Given the description of an element on the screen output the (x, y) to click on. 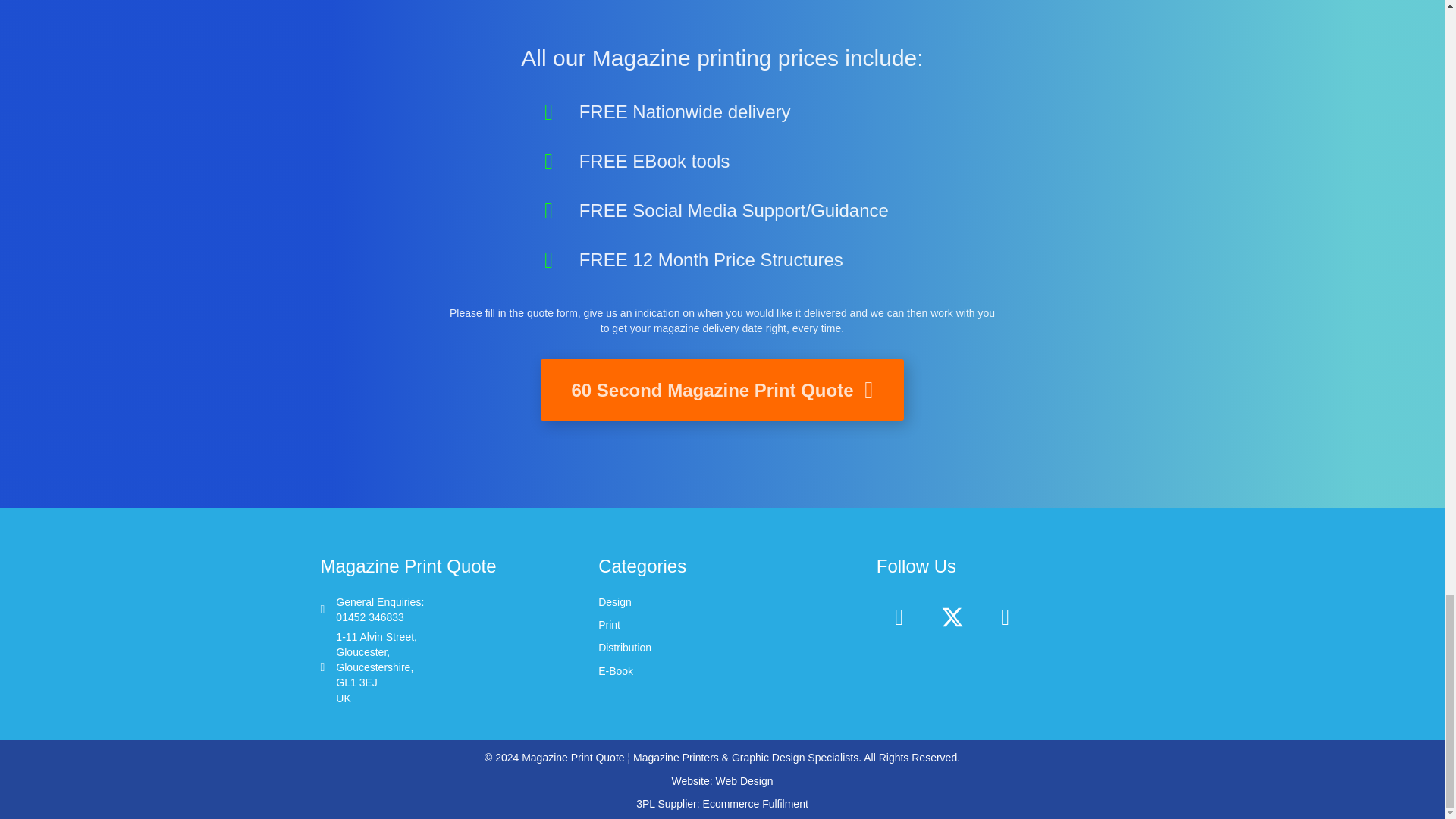
web design (744, 780)
60 Second Magazine Print Quote (721, 389)
Distribution (624, 647)
Ecommerce Fulfilment (755, 803)
Design (614, 602)
LinkedIn (1004, 616)
E-Book (615, 671)
Ecommerce Fulfilment (755, 803)
Print (379, 609)
